Given the description of an element on the screen output the (x, y) to click on. 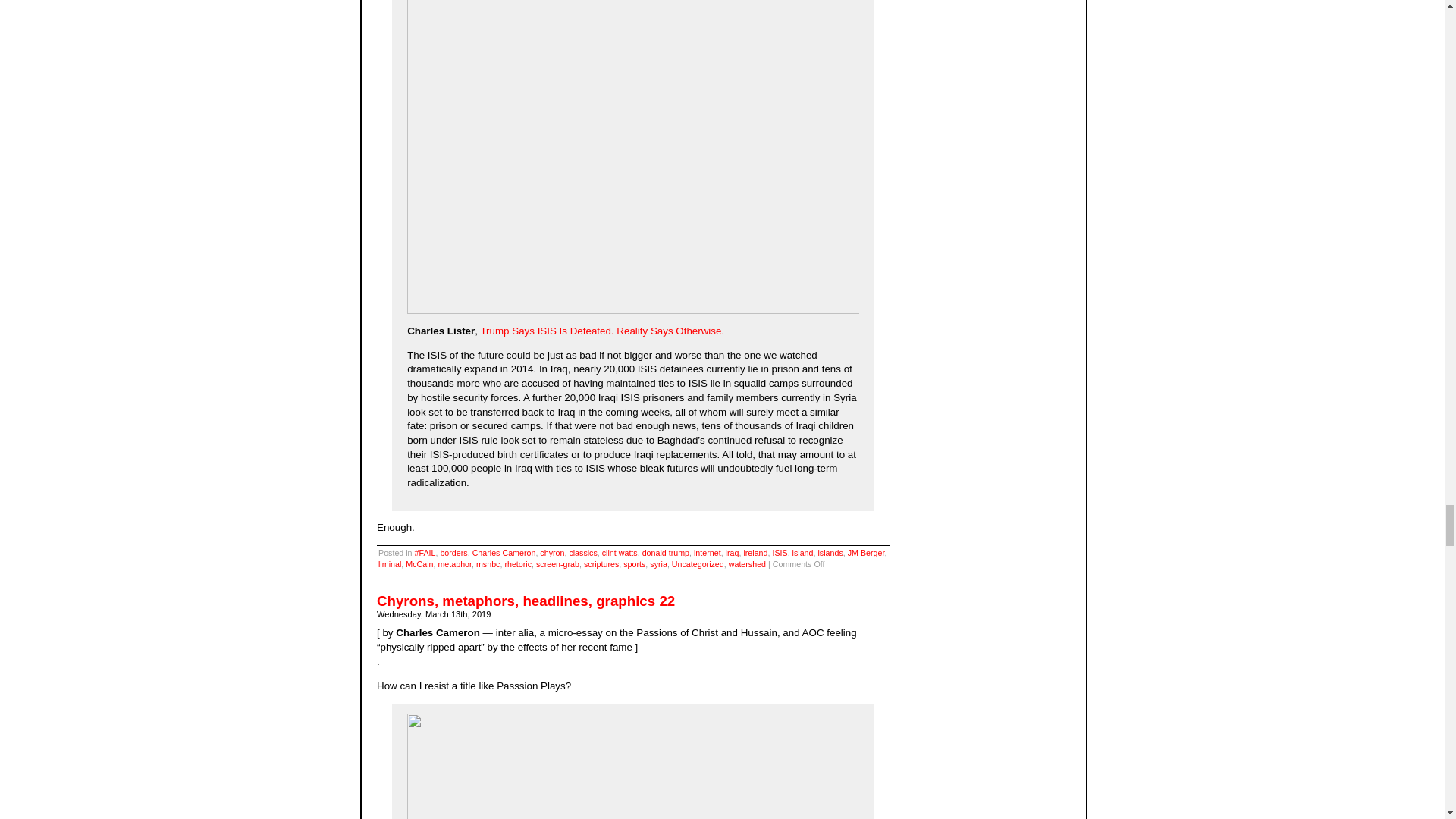
Permanent Link to Chyrons, metaphors, headlines, graphics 22 (526, 600)
